Given the description of an element on the screen output the (x, y) to click on. 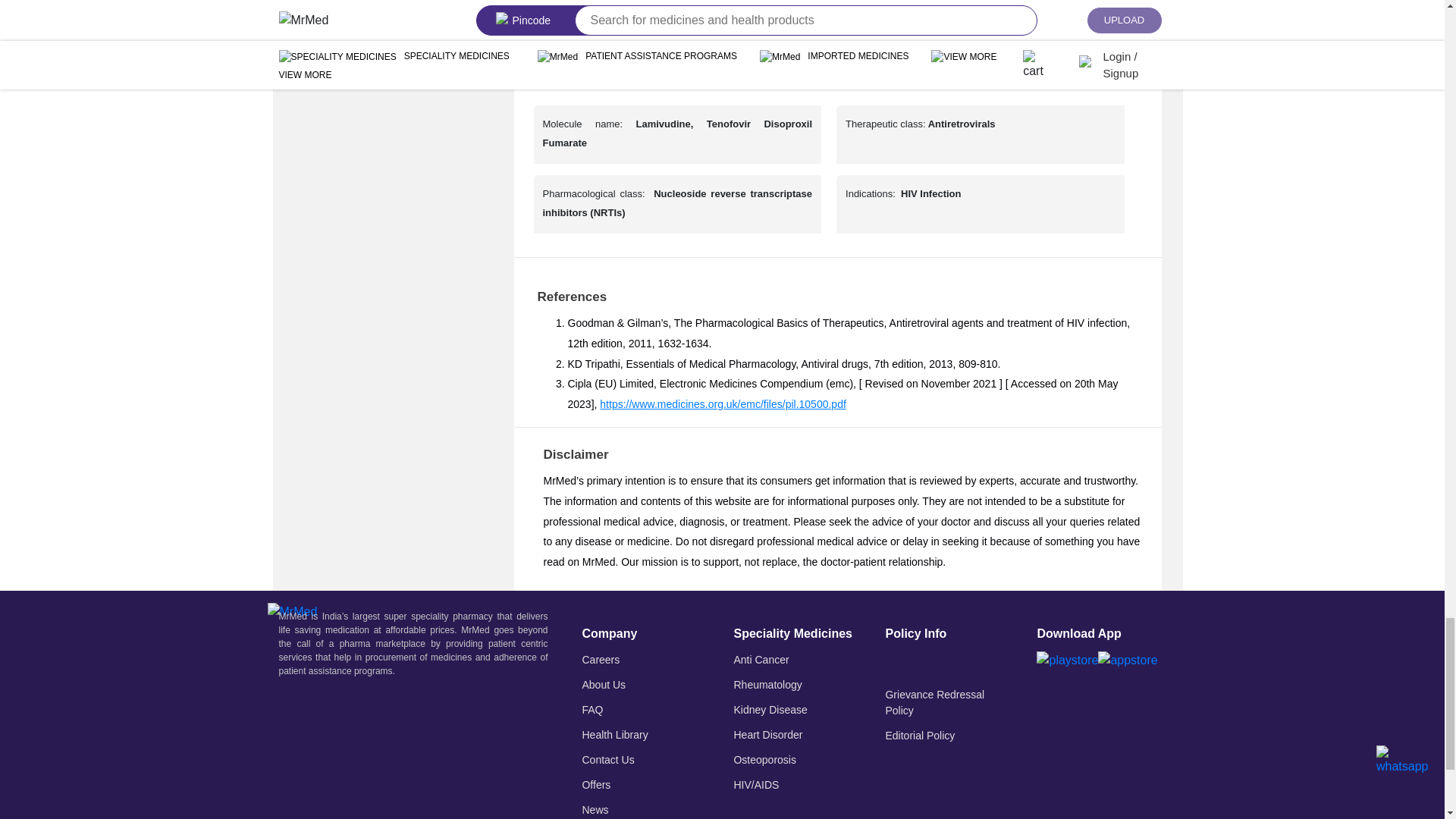
About Us (603, 684)
MrMed (291, 610)
FAQ (591, 708)
Careers (600, 658)
